Given the description of an element on the screen output the (x, y) to click on. 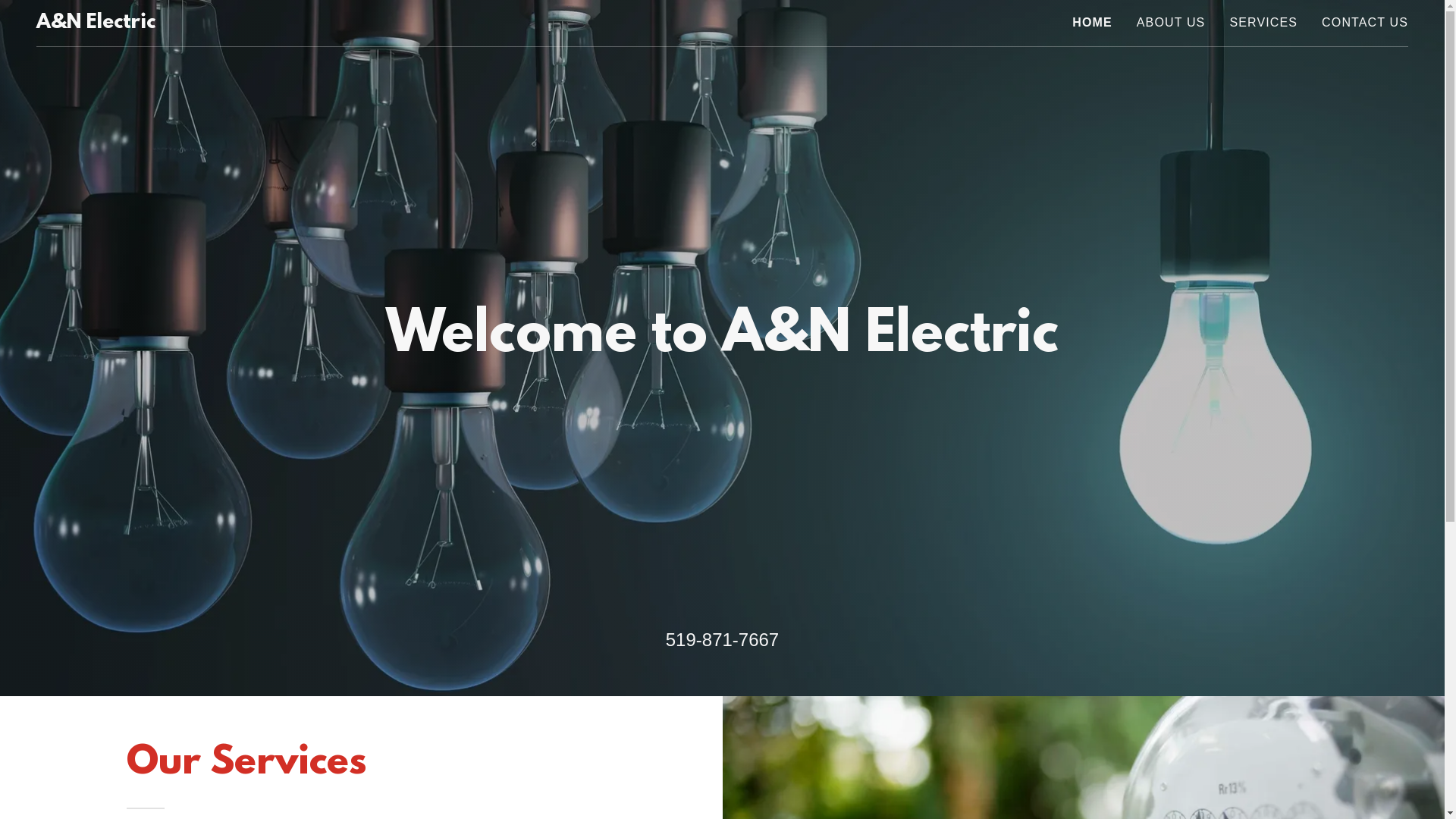
A&N Electric Element type: text (95, 23)
519-871-7667 Element type: text (721, 639)
HOME Element type: text (1092, 22)
ABOUT US Element type: text (1171, 22)
SERVICES Element type: text (1263, 22)
CONTACT US Element type: text (1364, 22)
